Given the description of an element on the screen output the (x, y) to click on. 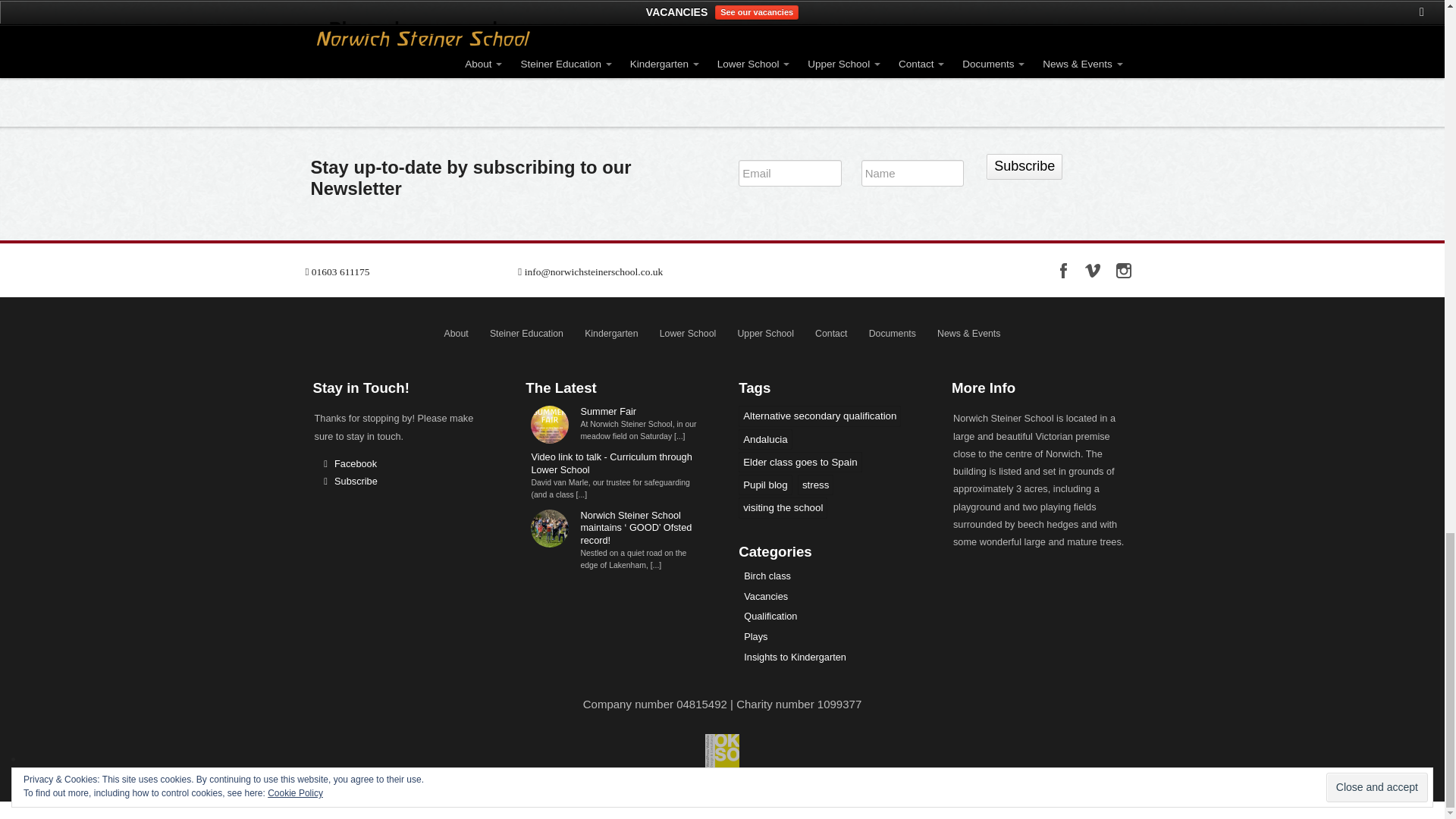
Subscribe (1024, 166)
